Given the description of an element on the screen output the (x, y) to click on. 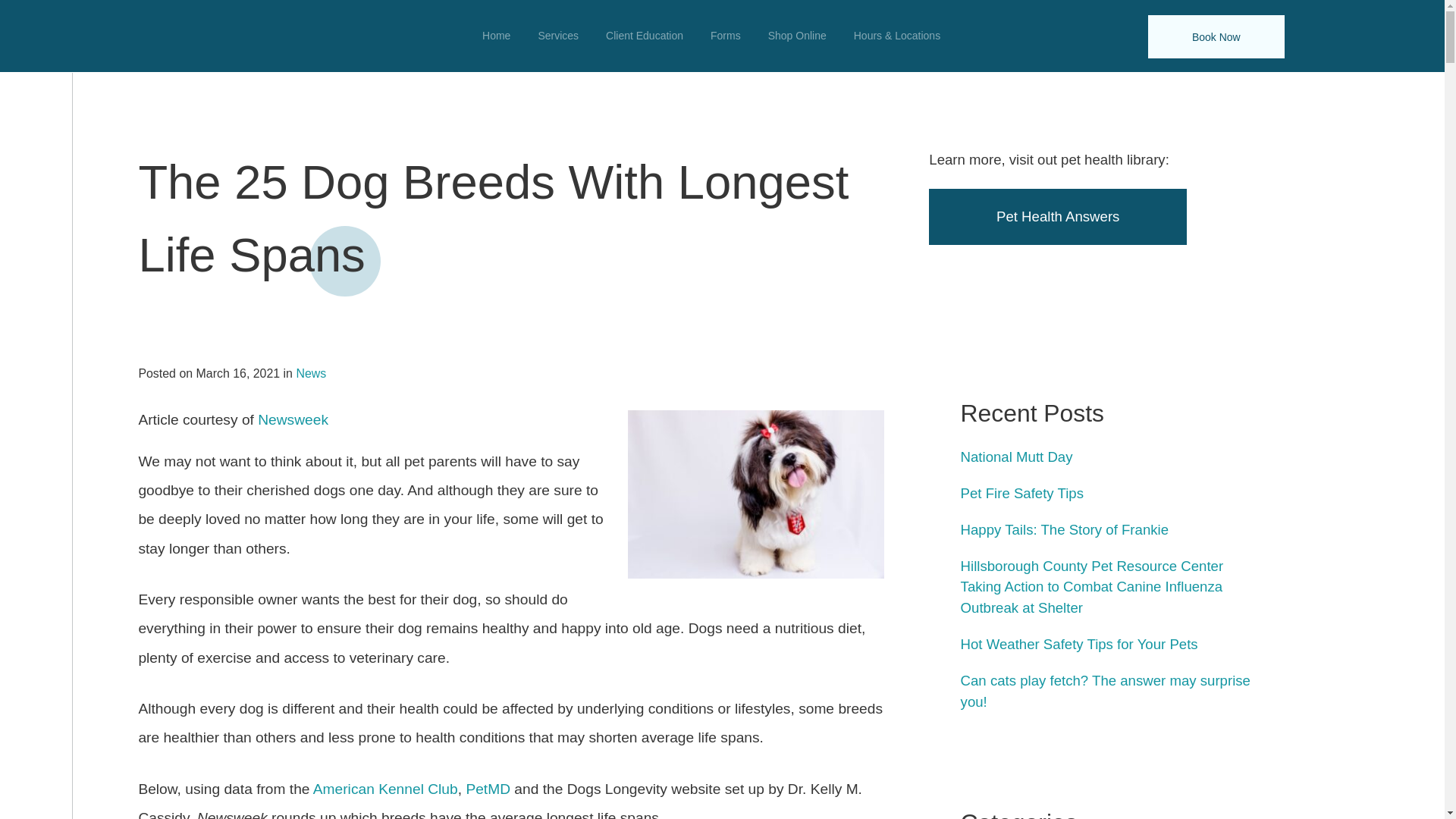
Client Education (644, 36)
Services (558, 36)
Shop Online (797, 36)
PetMD (488, 788)
News (310, 373)
American Kennel Club (385, 788)
Forms (725, 36)
Pet Health Answers (1057, 216)
Tampa Bay Animal Hospitals (190, 36)
The 25 Dog Breeds With Longest Life Spans 1 (755, 494)
Book Now (1216, 36)
Newsweek (293, 419)
Home (496, 36)
